Given the description of an element on the screen output the (x, y) to click on. 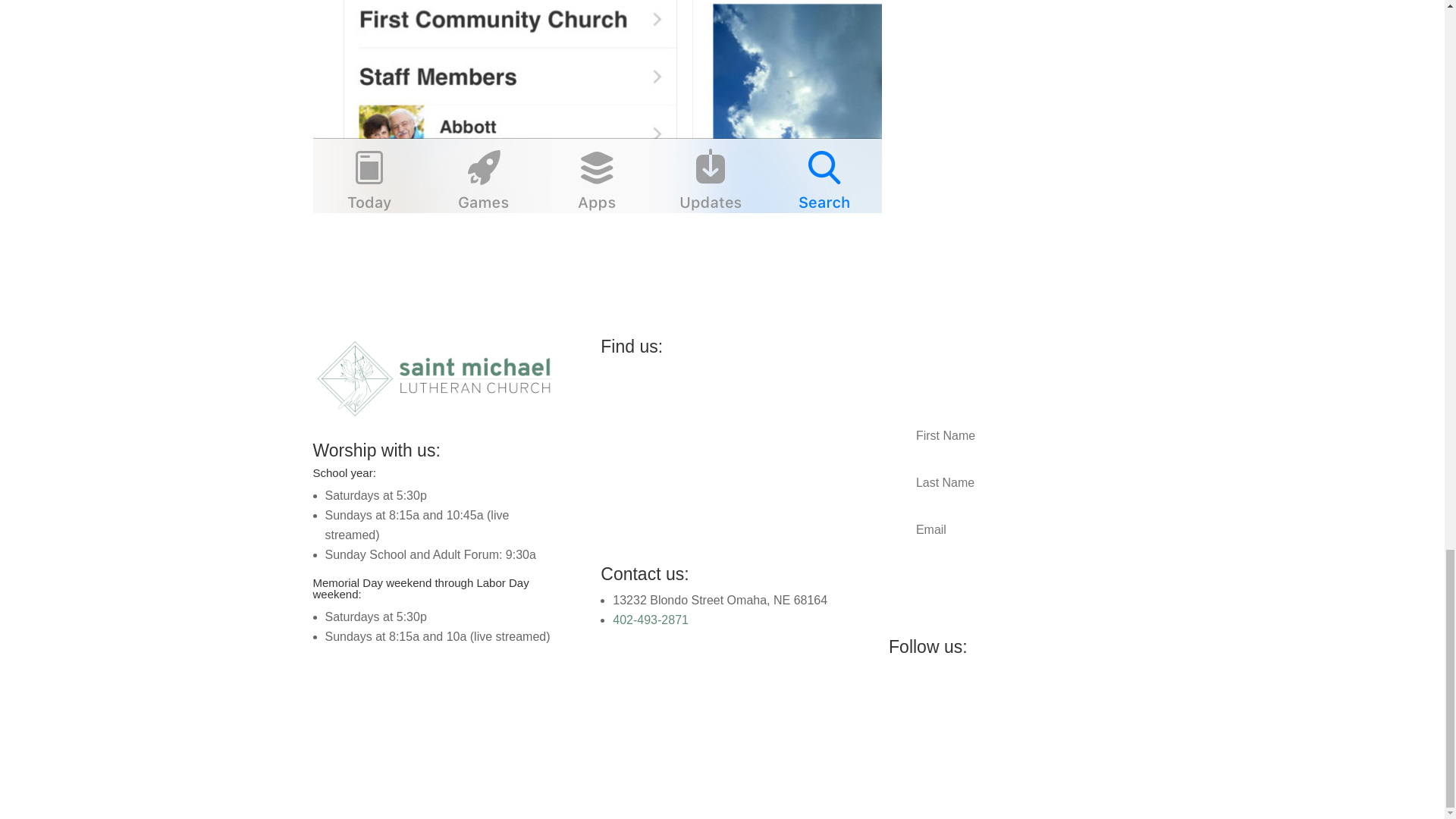
SMLC-LogoWithoutWords-outlines (433, 379)
Follow on Instagram (961, 698)
Follow on Youtube (991, 698)
Follow on Facebook (900, 698)
Follow on Twitter (930, 698)
